Given the description of an element on the screen output the (x, y) to click on. 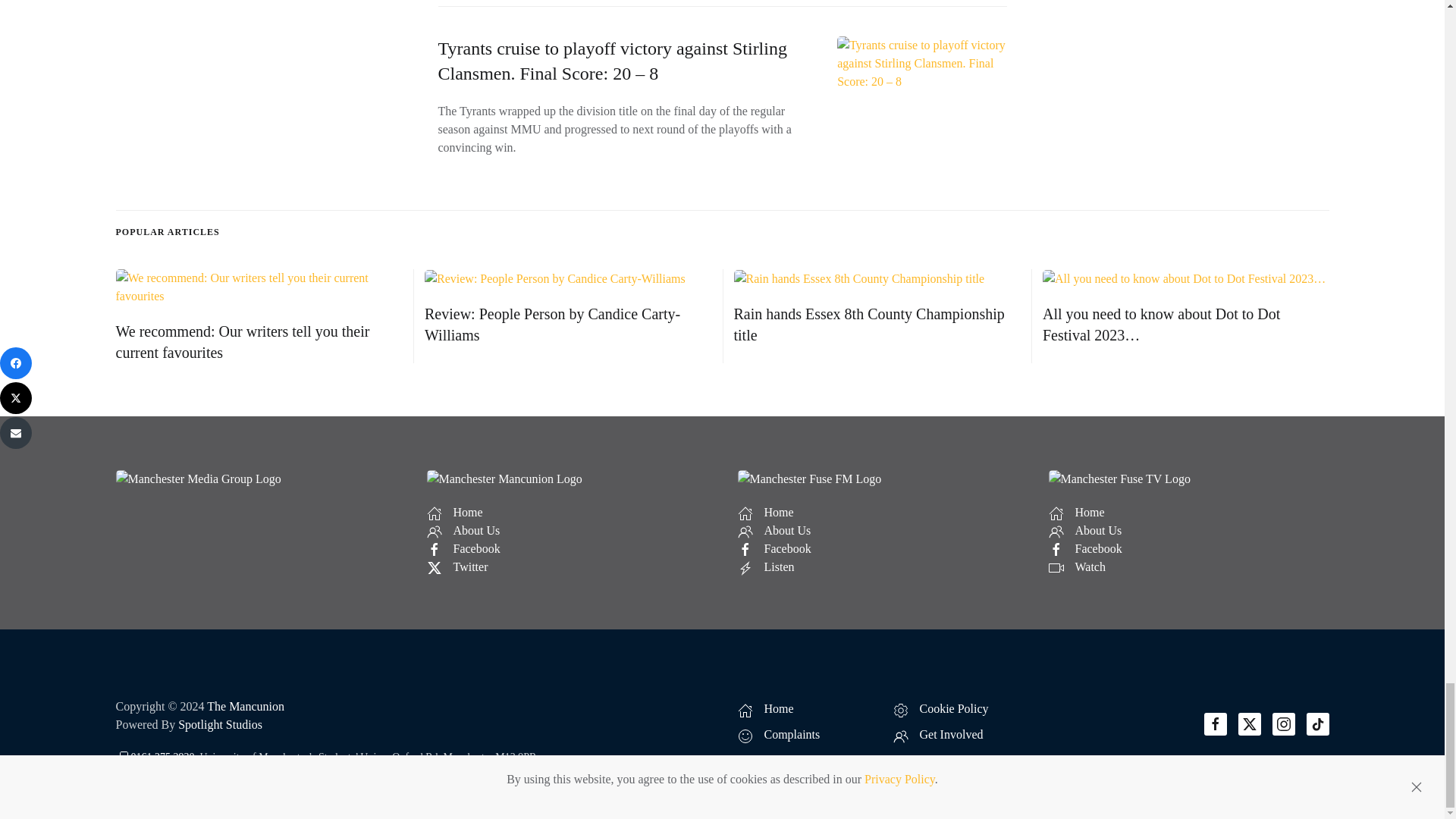
The Mancunion (244, 706)
Web Design by Spotlight Studios (219, 724)
